Given the description of an element on the screen output the (x, y) to click on. 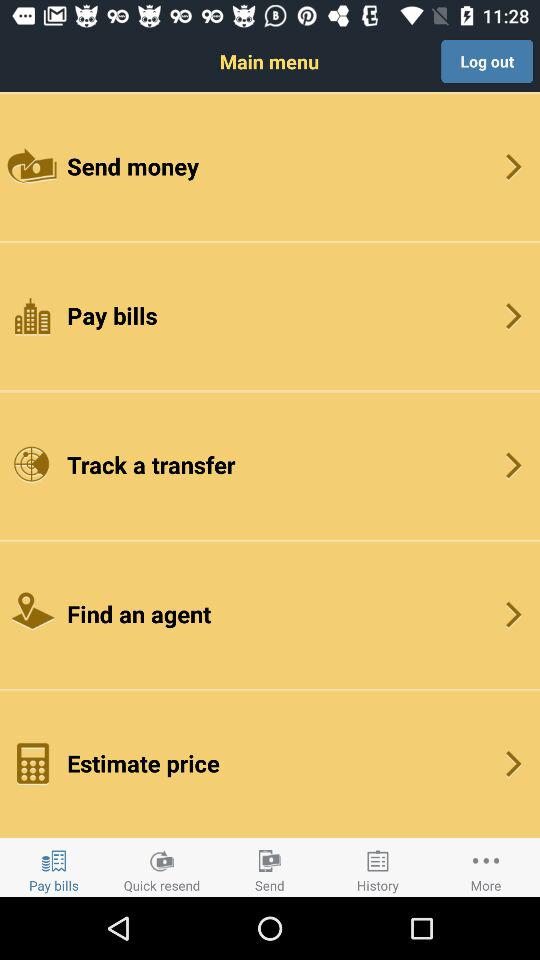
tap the track a transfer item (270, 464)
